Given the description of an element on the screen output the (x, y) to click on. 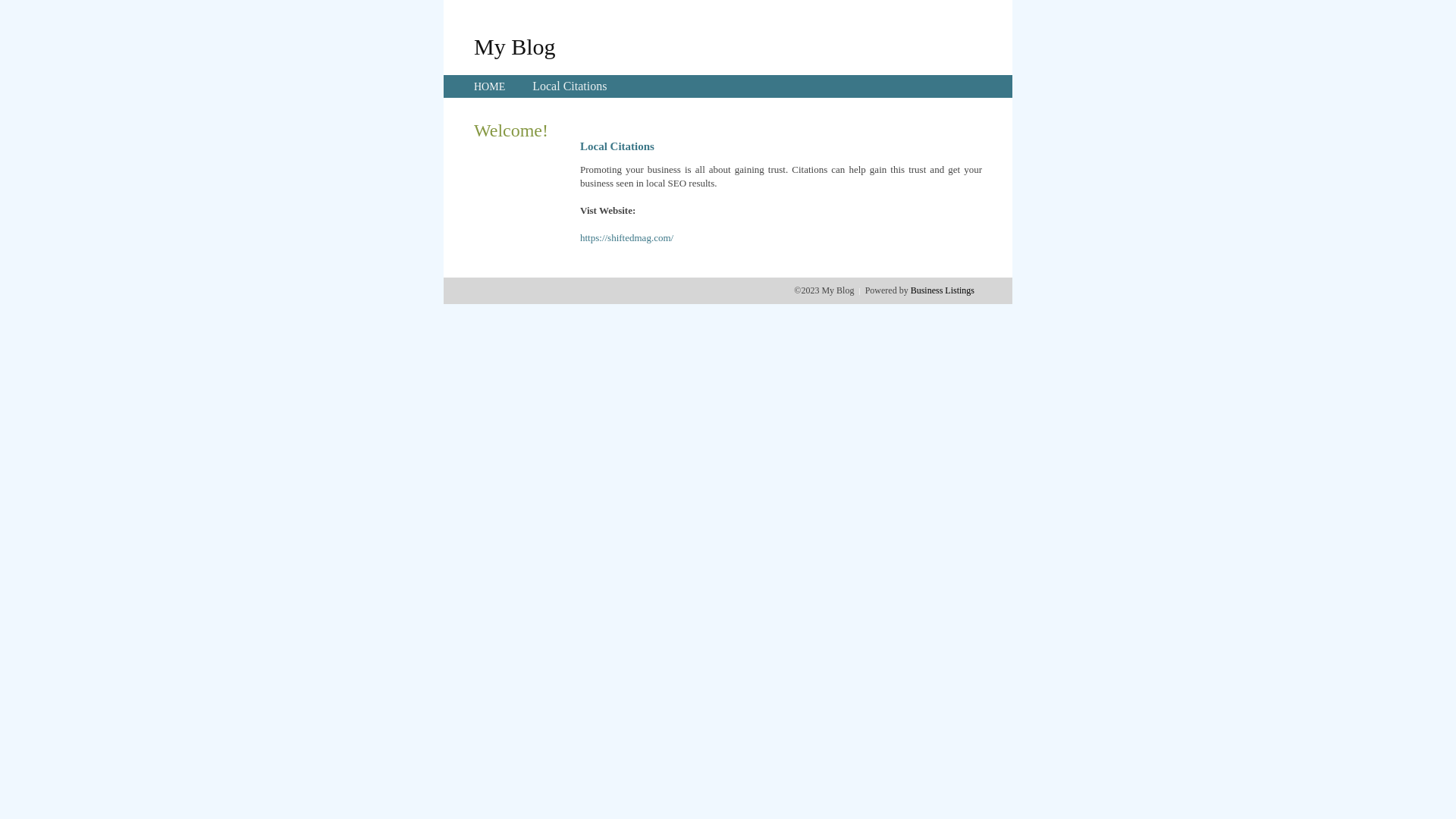
Local Citations Element type: text (569, 85)
Business Listings Element type: text (942, 290)
HOME Element type: text (489, 86)
My Blog Element type: text (514, 46)
https://shiftedmag.com/ Element type: text (626, 237)
